Given the description of an element on the screen output the (x, y) to click on. 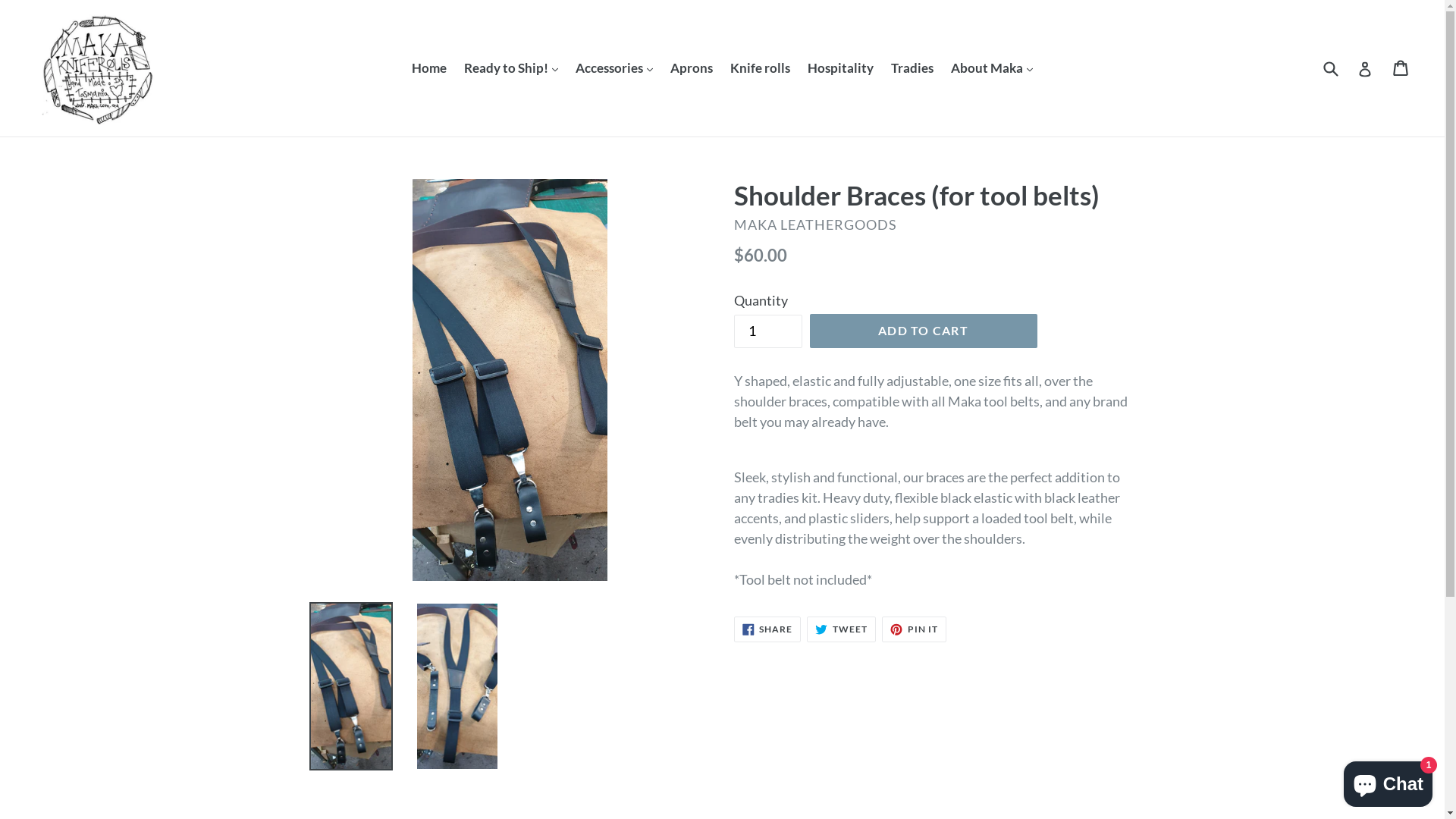
Cart
Cart Element type: text (1401, 67)
ADD TO CART Element type: text (923, 330)
Hospitality Element type: text (840, 68)
Aprons Element type: text (691, 68)
Knife rolls Element type: text (759, 68)
PIN IT
PIN ON PINTEREST Element type: text (913, 629)
Shopify online store chat Element type: hover (1388, 780)
Tradies Element type: text (912, 68)
Log in Element type: text (1364, 67)
SHARE
SHARE ON FACEBOOK Element type: text (767, 629)
Submit Element type: text (1329, 67)
Home Element type: text (429, 68)
TWEET
TWEET ON TWITTER Element type: text (840, 629)
